Given the description of an element on the screen output the (x, y) to click on. 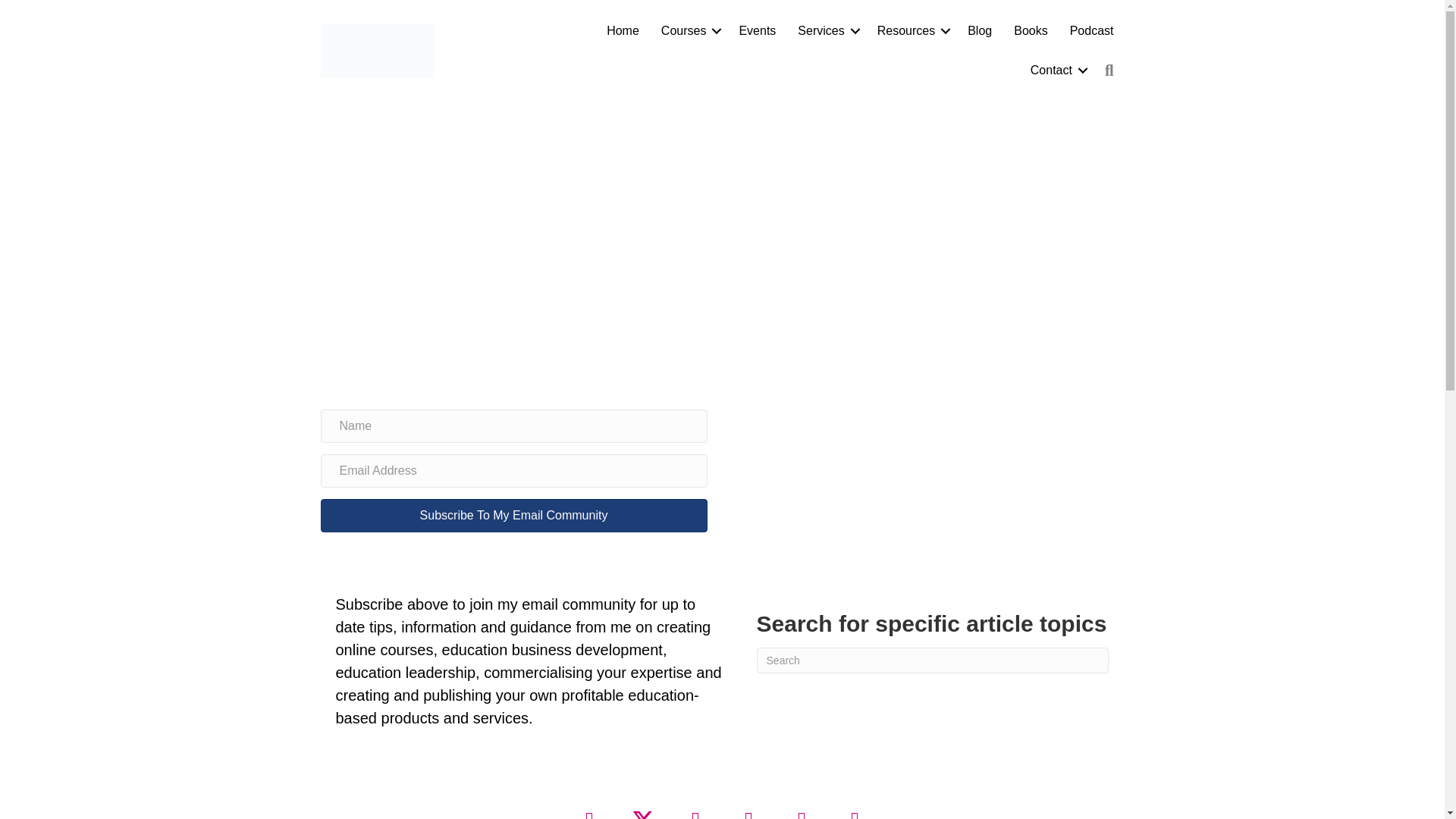
LinkedIn (748, 808)
Blog (979, 30)
Instagram (854, 808)
Pinterest (801, 808)
Contact (1056, 70)
Type and press Enter to search. (933, 660)
Facebook (589, 808)
YouTube (695, 808)
Home (622, 30)
Courses (689, 30)
